Given the description of an element on the screen output the (x, y) to click on. 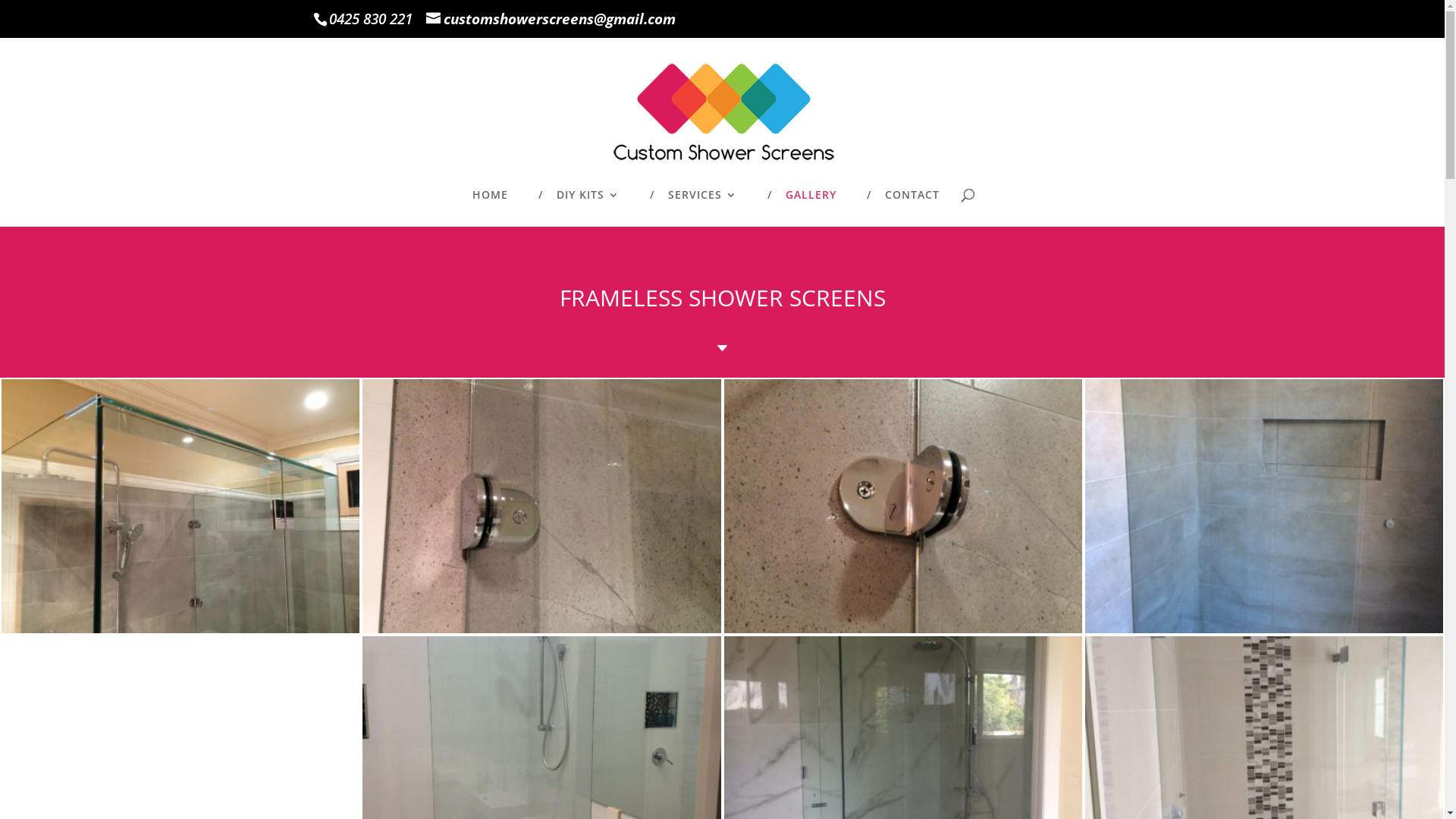
customshowerscreens@gmail.com Element type: text (550, 18)
DIY KITS Element type: text (587, 207)
GALLERY Element type: text (810, 207)
SERVICES Element type: text (701, 207)
IMG_0185 Element type: hover (541, 628)
C Element type: text (721, 350)
IMG_0186 Element type: hover (902, 628)
HOME Element type: text (489, 207)
IMG_0221 Element type: hover (1264, 628)
IMG_0174 Element type: hover (180, 628)
CONTACT Element type: text (911, 207)
